Given the description of an element on the screen output the (x, y) to click on. 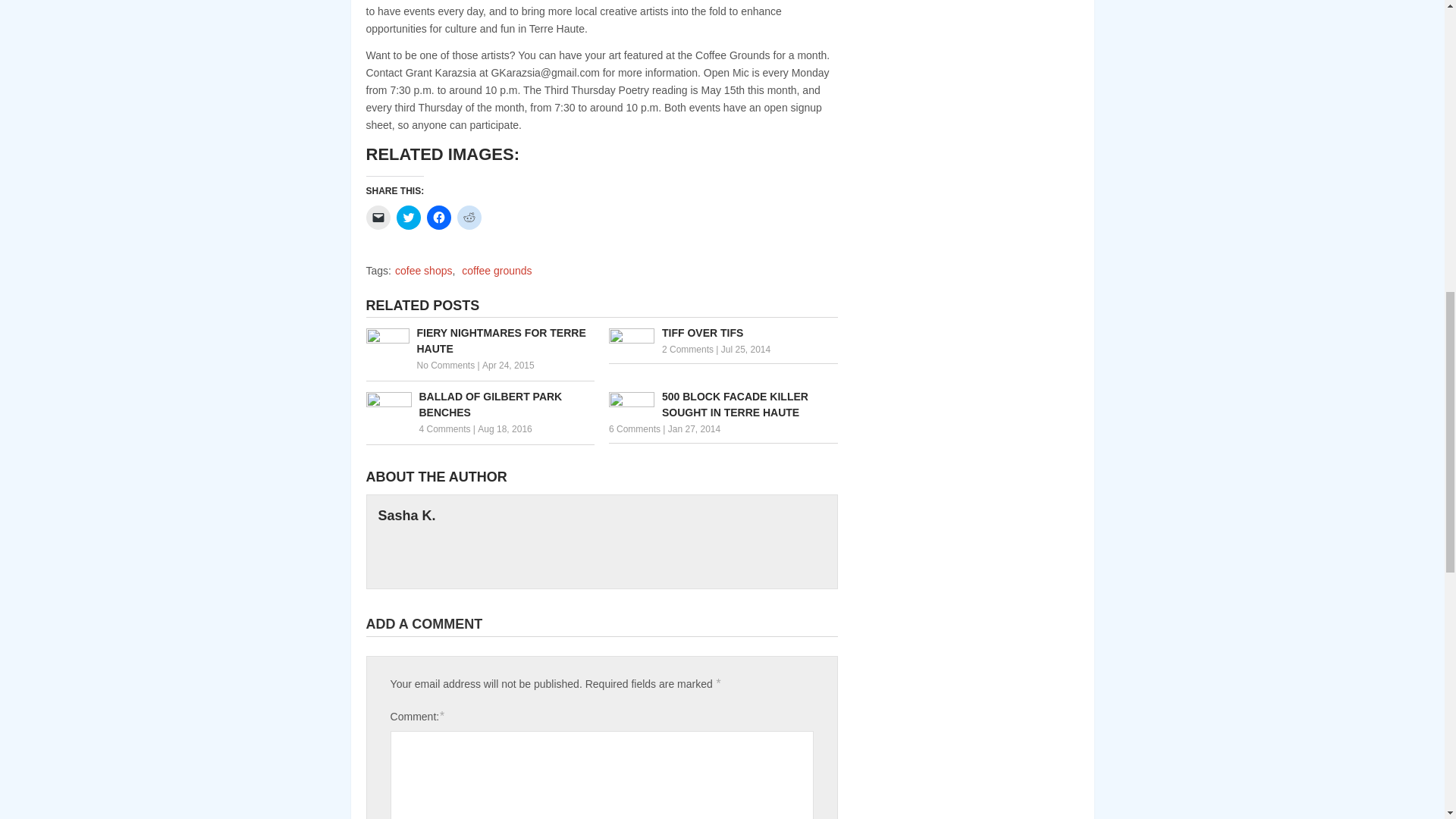
2 Comments (687, 348)
No Comments (446, 365)
BALLAD OF GILBERT PARK BENCHES (479, 404)
coffee grounds (496, 270)
cofee shops (423, 270)
TIFF OVER TIFS (723, 333)
6 Comments (634, 429)
4 Comments (444, 429)
500 BLOCK FACADE KILLER SOUGHT IN TERRE HAUTE (723, 404)
Click to email a link to a friend (377, 217)
